Given the description of an element on the screen output the (x, y) to click on. 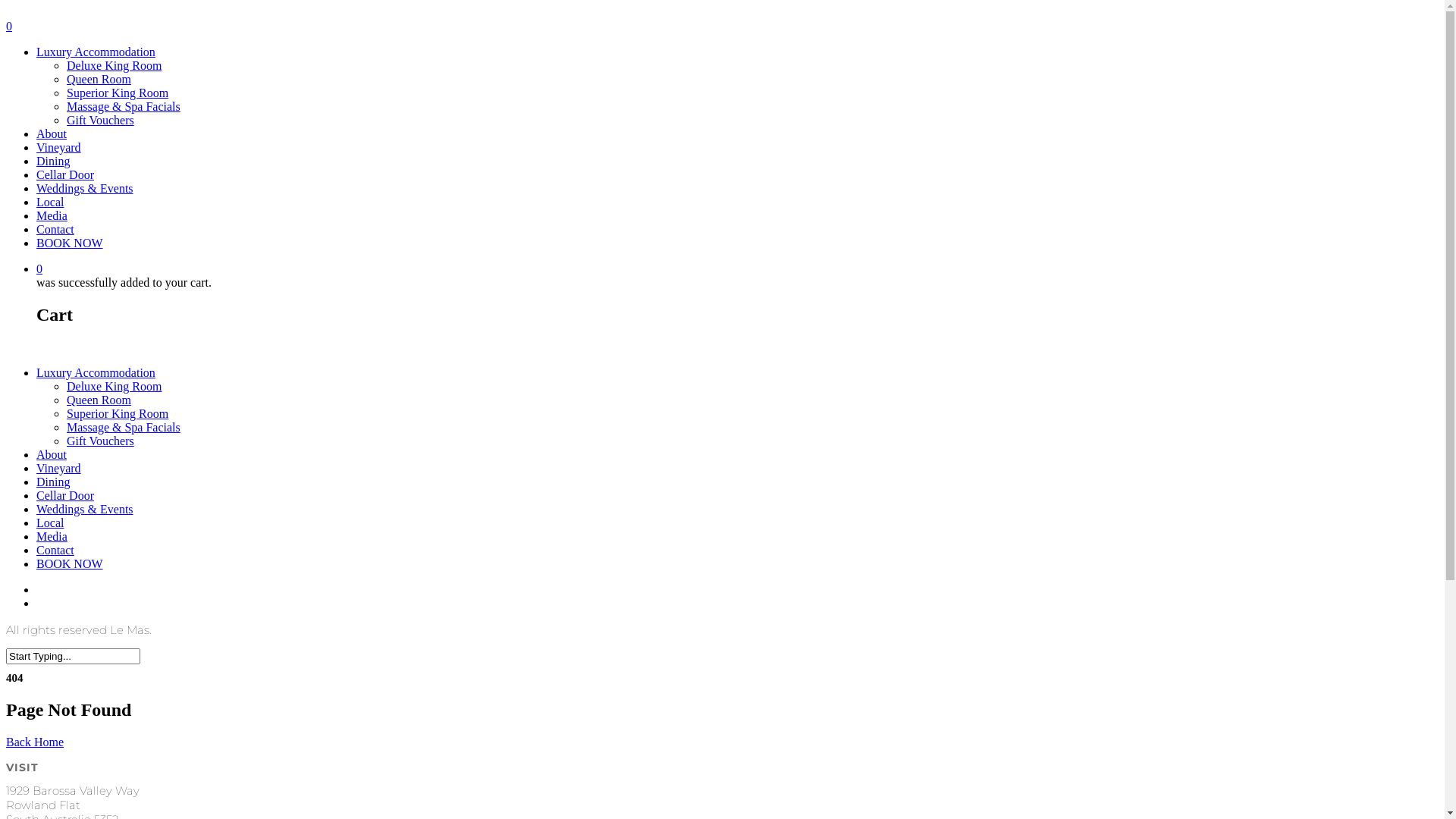
Queen Room Element type: text (98, 399)
Contact Element type: text (55, 228)
Superior King Room Element type: text (117, 413)
Deluxe King Room Element type: text (113, 385)
Local Element type: text (49, 201)
Deluxe King Room Element type: text (113, 65)
Vineyard Element type: text (58, 147)
Local Element type: text (49, 522)
Media Element type: text (51, 215)
Queen Room Element type: text (98, 78)
0 Element type: text (722, 26)
Media Element type: text (51, 536)
Luxury Accommodation Element type: text (95, 51)
BOOK NOW Element type: text (69, 242)
Superior King Room Element type: text (117, 92)
Weddings & Events Element type: text (84, 188)
Massage & Spa Facials Element type: text (123, 106)
Massage & Spa Facials Element type: text (123, 426)
Vineyard Element type: text (58, 467)
0 Element type: text (737, 269)
Back Home Element type: text (34, 741)
About Element type: text (51, 454)
Dining Element type: text (52, 481)
Luxury Accommodation Element type: text (95, 372)
About Element type: text (51, 133)
Contact Element type: text (55, 549)
Weddings & Events Element type: text (84, 508)
Dining Element type: text (52, 160)
Gift Vouchers Element type: text (100, 119)
BOOK NOW Element type: text (69, 563)
Cellar Door Element type: text (65, 495)
Cellar Door Element type: text (65, 174)
Gift Vouchers Element type: text (100, 440)
